Given the description of an element on the screen output the (x, y) to click on. 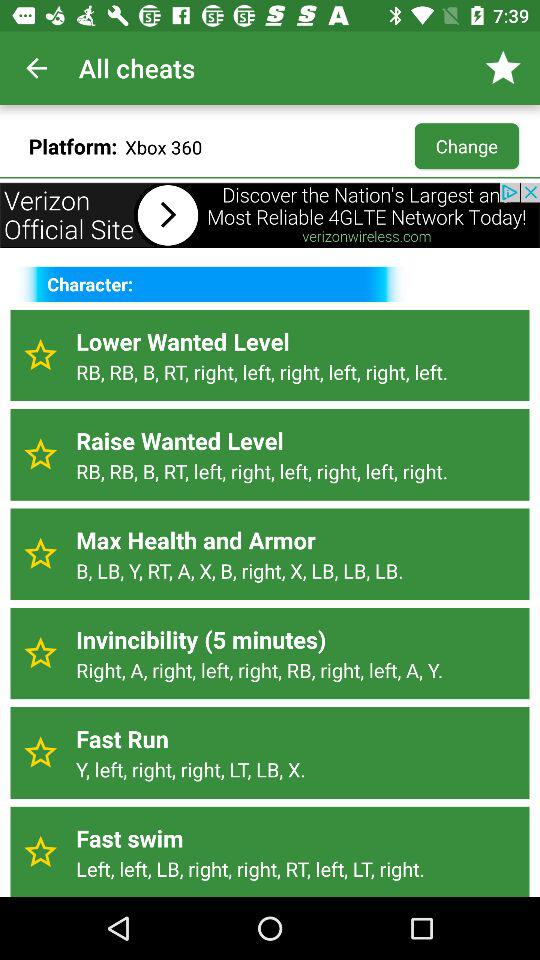
for rateing (40, 851)
